Given the description of an element on the screen output the (x, y) to click on. 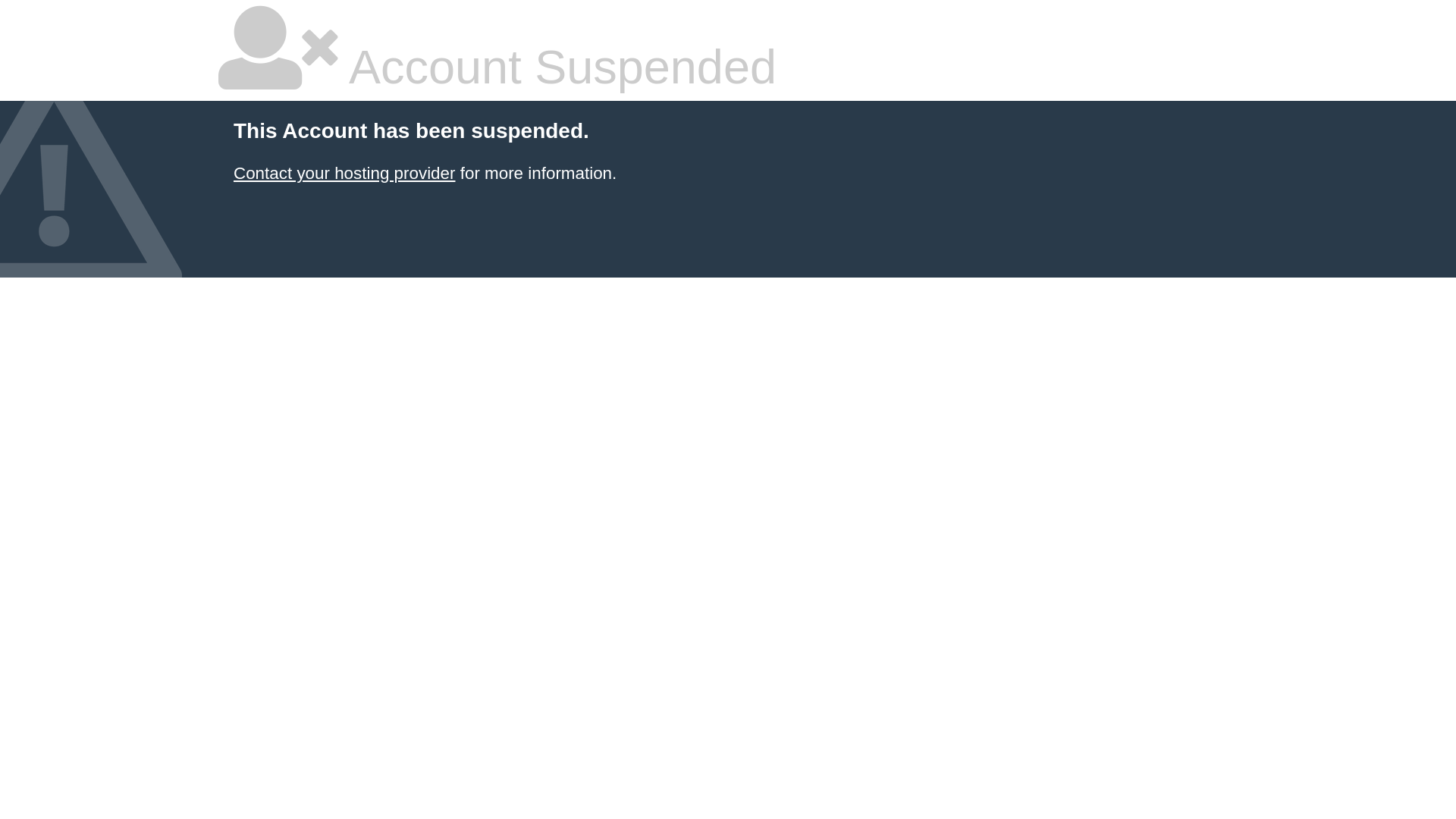
Contact your hosting provider Element type: text (344, 172)
